Given the description of an element on the screen output the (x, y) to click on. 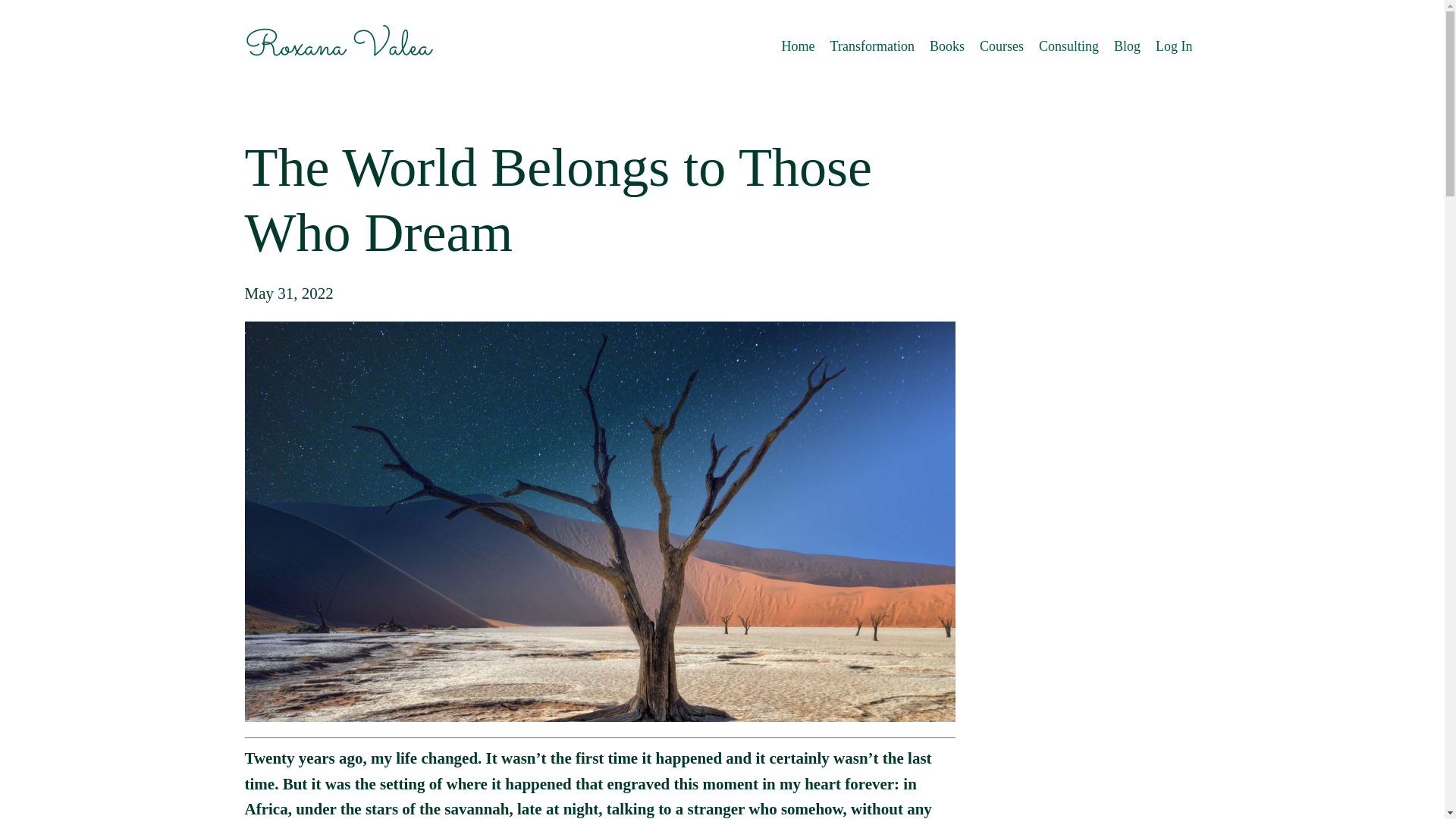
Blog (1126, 46)
Courses (1001, 46)
Transformation (871, 46)
Log In (1174, 46)
Home (798, 46)
Books (946, 46)
Consulting (1069, 46)
